Given the description of an element on the screen output the (x, y) to click on. 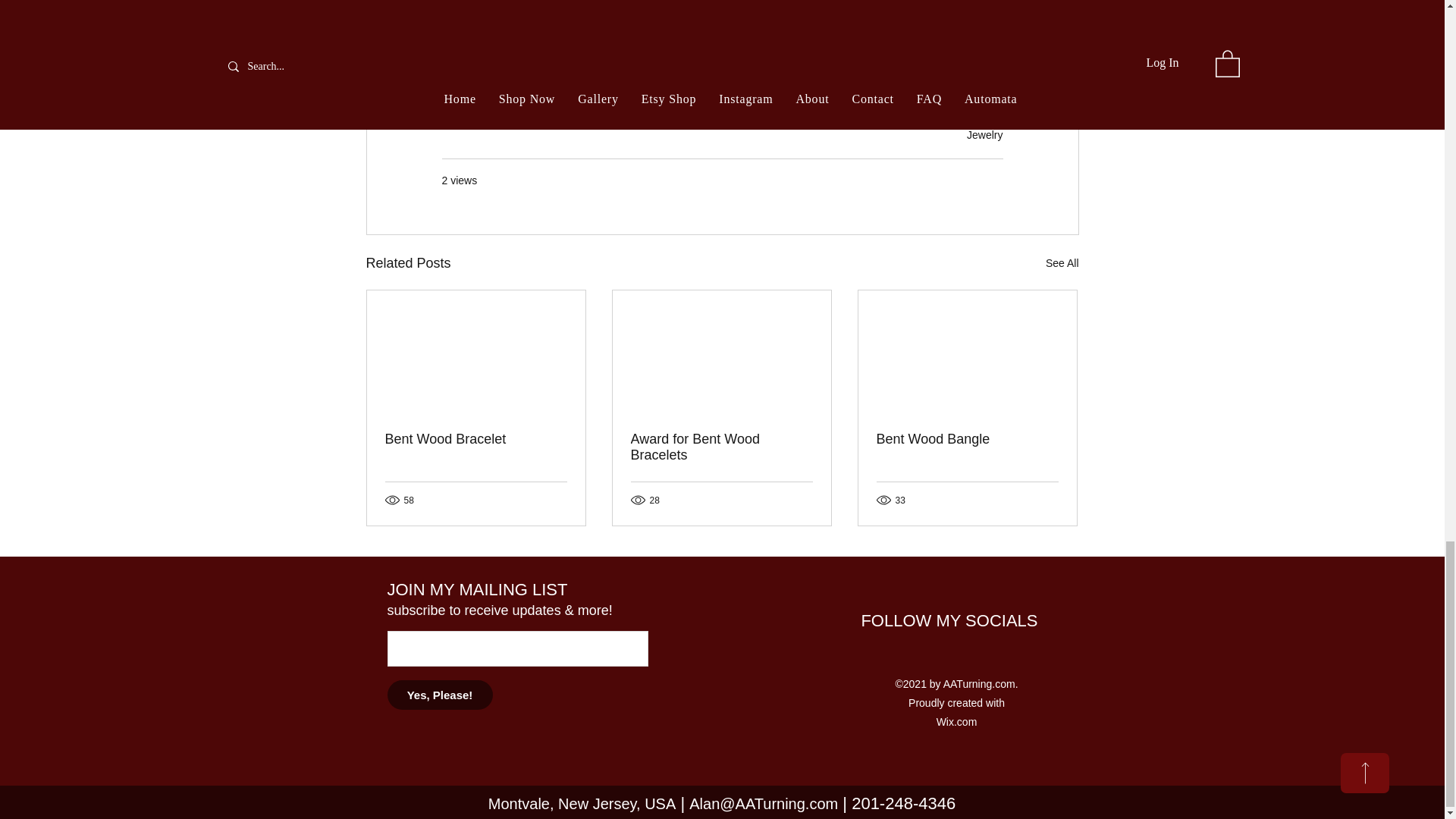
AATurning (635, 48)
Handmade Jewelry (800, 48)
Wood Jewelry (905, 48)
Woodturning (481, 48)
Alan Adler (561, 48)
Wood Art (708, 48)
